Given the description of an element on the screen output the (x, y) to click on. 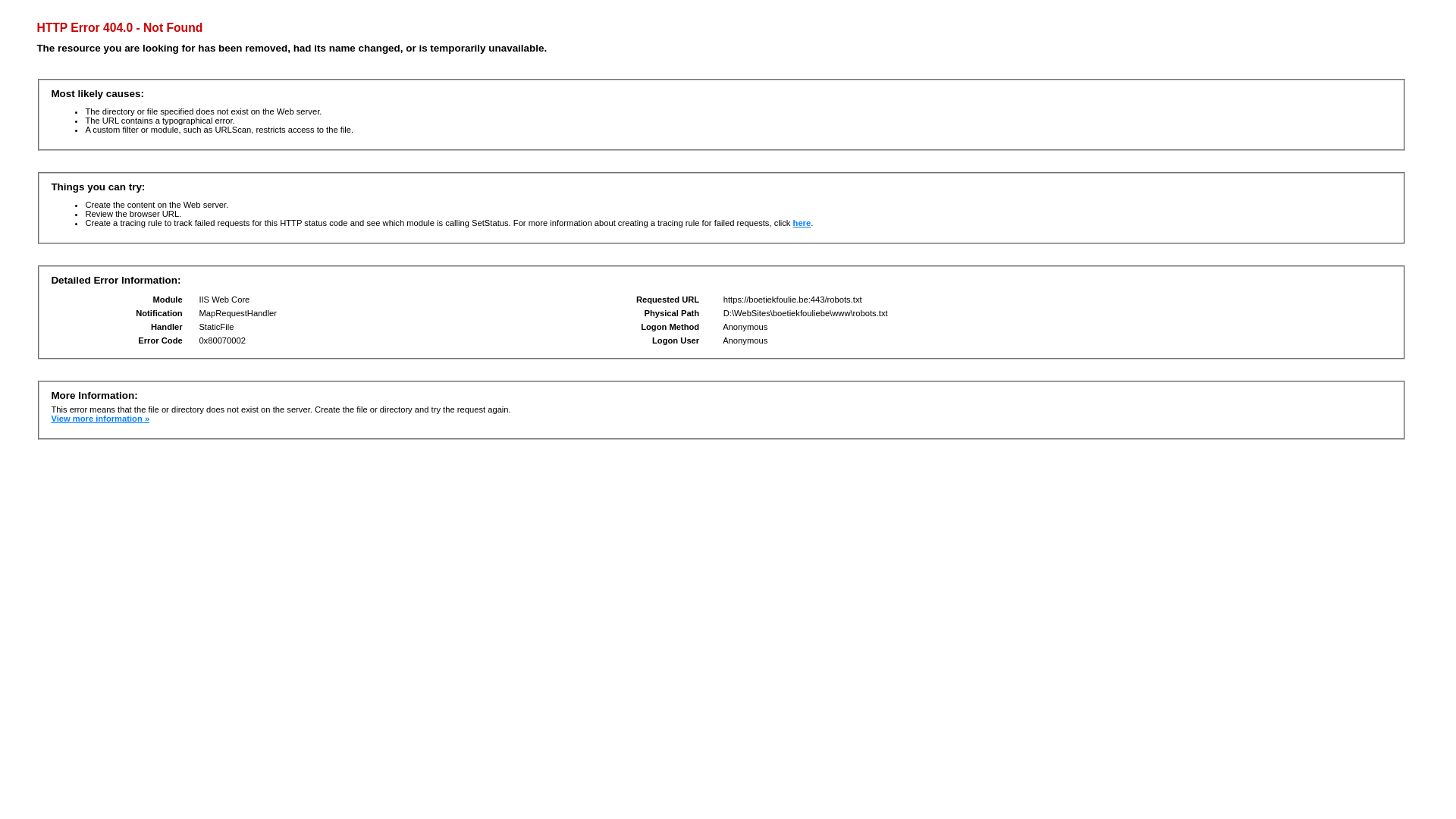
here Element type: text (802, 222)
